Given the description of an element on the screen output the (x, y) to click on. 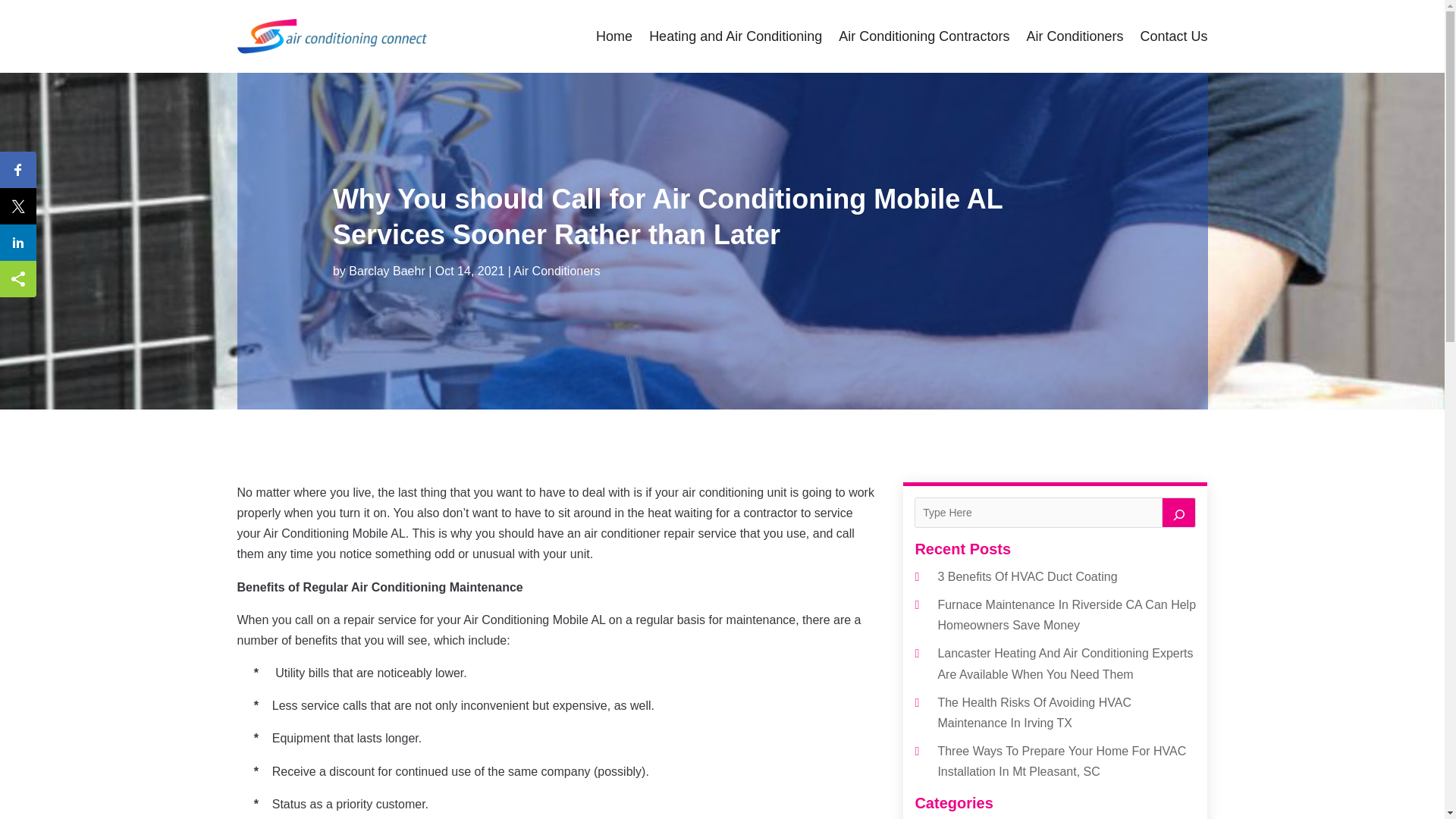
Air Conditioning Contractors (923, 36)
Barclay Baehr (387, 270)
Contact Us (1173, 36)
Heating and Air Conditioning (735, 36)
The Health Risks Of Avoiding HVAC Maintenance In Irving TX (1034, 712)
3 Benefits Of HVAC Duct Coating (1026, 576)
Posts by Barclay Baehr (387, 270)
Air Conditioners (1074, 36)
Air Conditioners (556, 270)
